Given the description of an element on the screen output the (x, y) to click on. 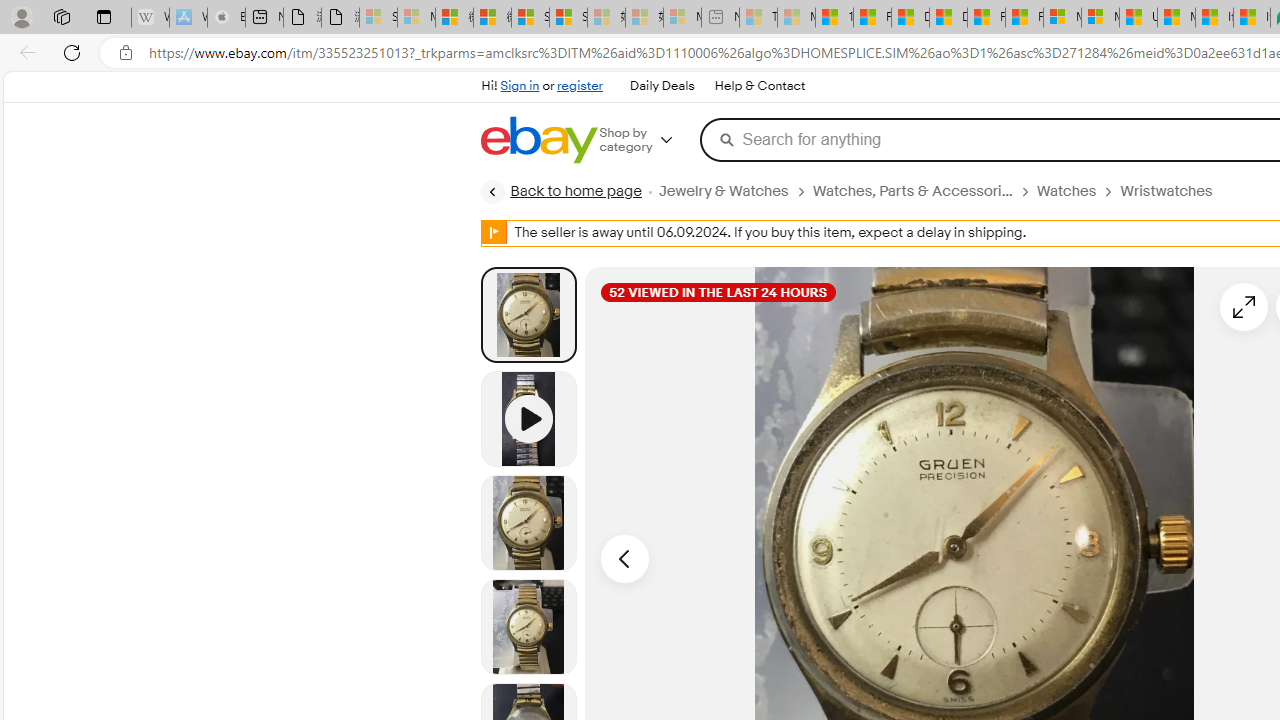
eBay Home (538, 139)
Picture 2 of 13 (528, 522)
Previous image - Item images thumbnails (624, 558)
Picture 1 of 13 (528, 314)
Help & Contact (760, 86)
Drinking tea every day is proven to delay biological aging (948, 17)
Top Stories - MSN - Sleeping (757, 17)
Picture 1 of 13 (528, 313)
